Given the description of an element on the screen output the (x, y) to click on. 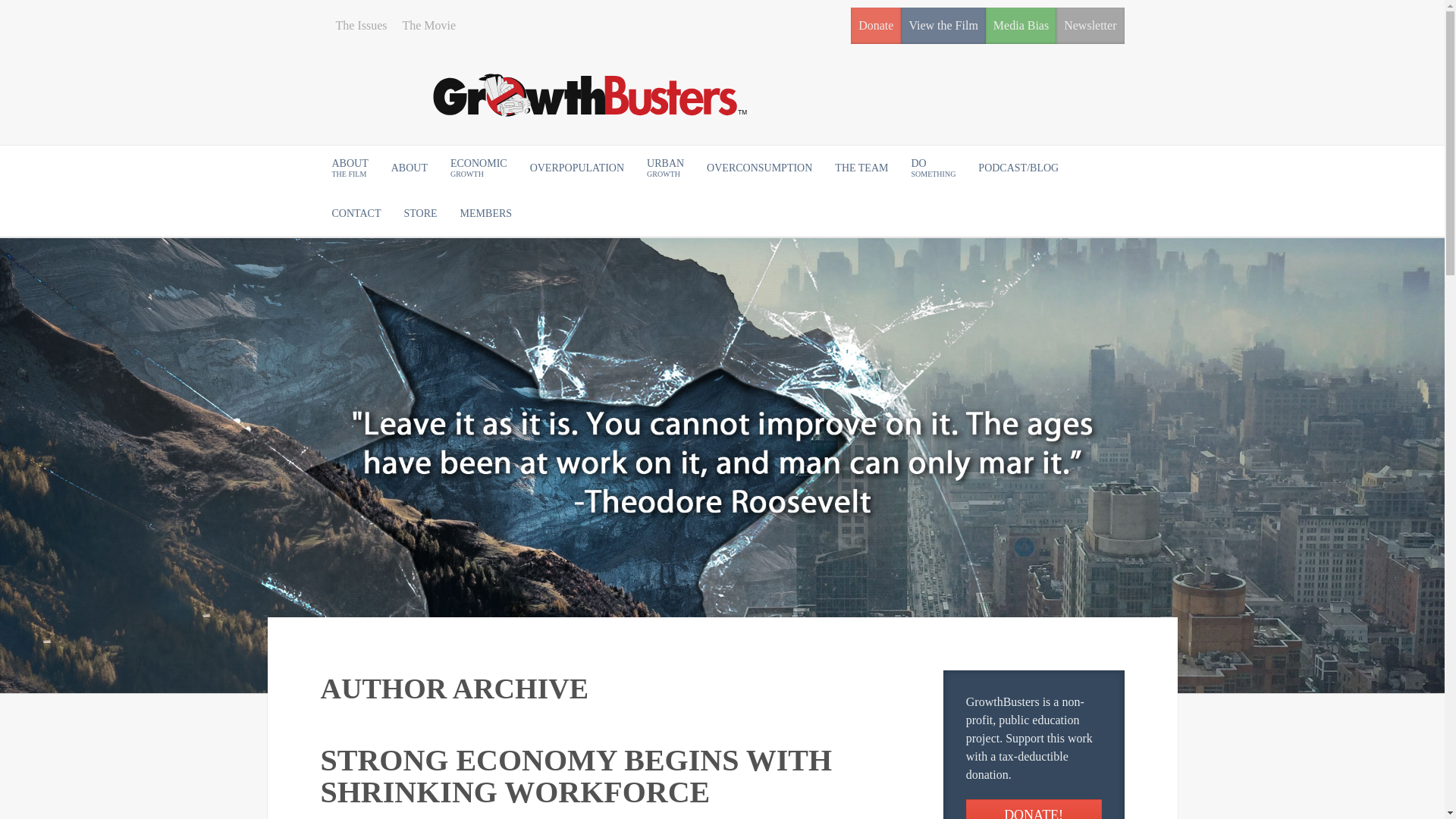
OVERPOPULATION (576, 167)
Newsletter (478, 167)
The Movie (349, 167)
Media Bias (664, 167)
OVERCONSUMPTION (1090, 25)
ABOUT (428, 25)
Overpopulation (1021, 25)
Economic (759, 167)
THE TEAM (409, 167)
Strong Economy Begins With Shrinking Workforce (576, 167)
View the Film (478, 167)
